Given the description of an element on the screen output the (x, y) to click on. 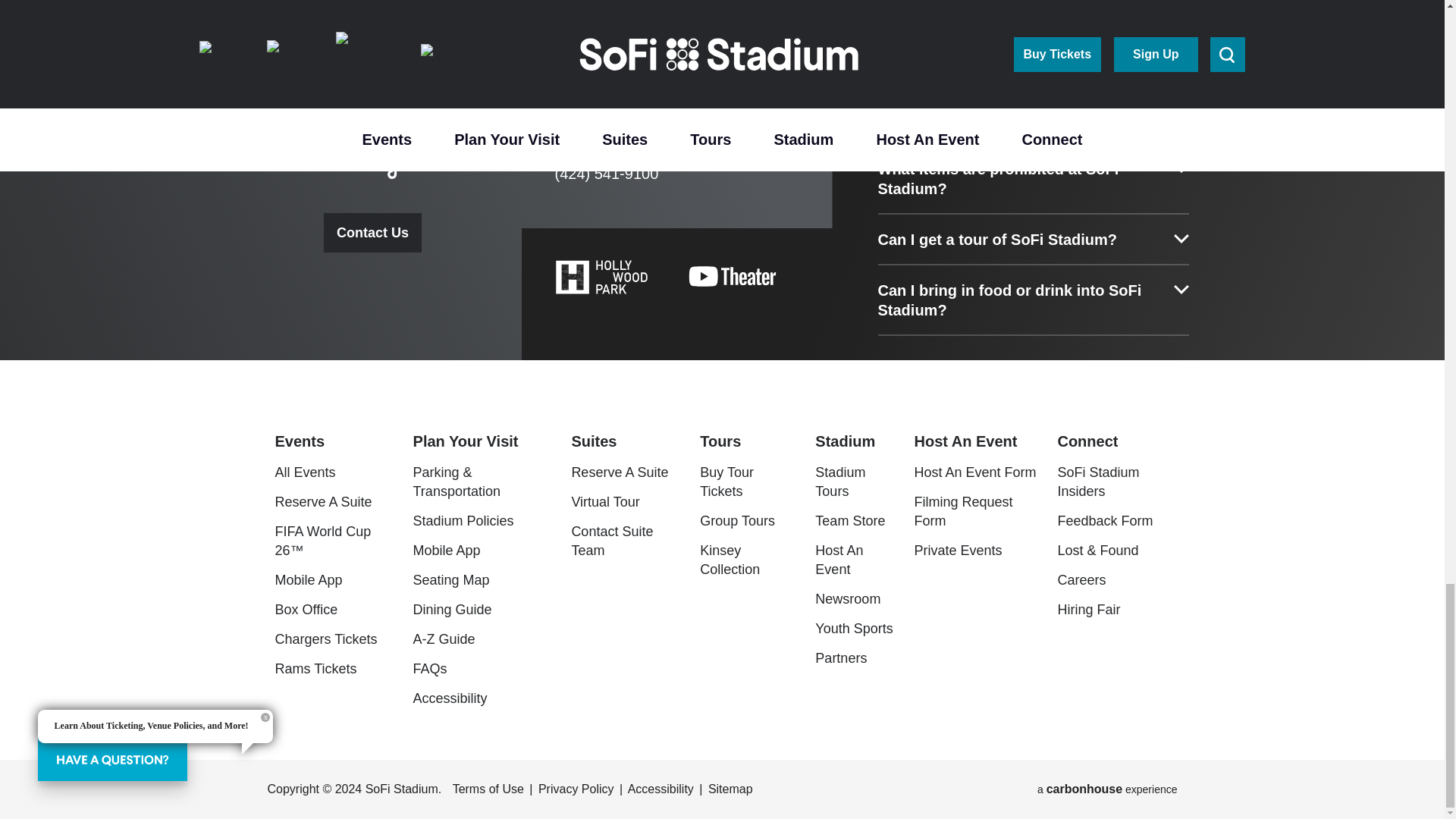
footer sponsor (374, 16)
footer sponsor (547, 16)
footer sponsor (895, 16)
footer sponsor (722, 16)
footer sponsor (1068, 16)
